Given the description of an element on the screen output the (x, y) to click on. 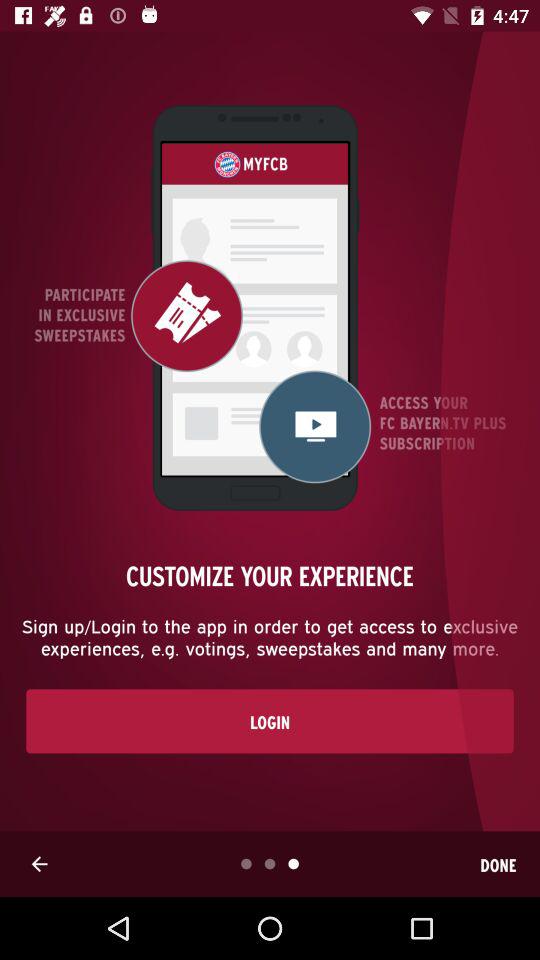
select icon to the left of done icon (39, 864)
